Given the description of an element on the screen output the (x, y) to click on. 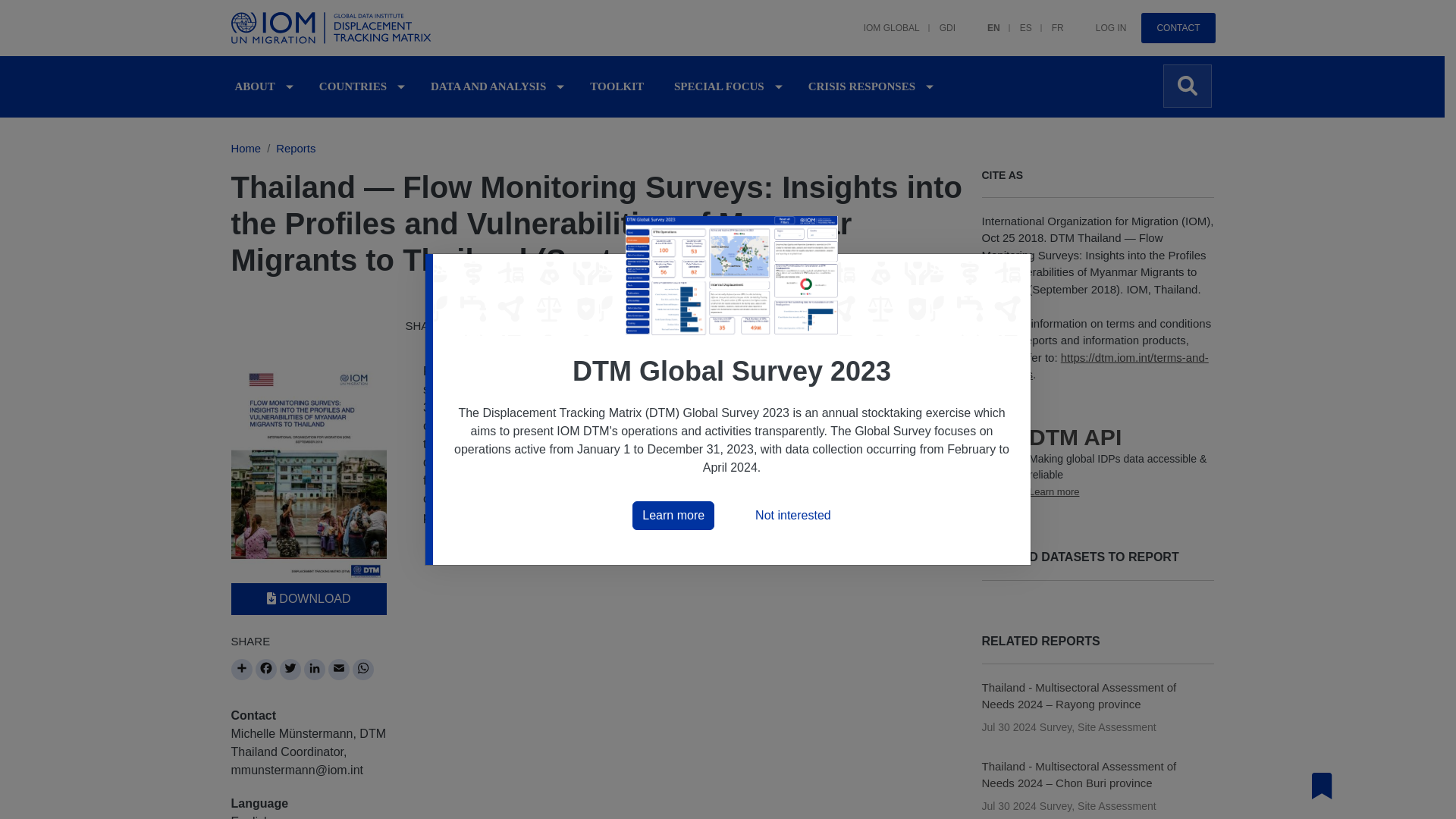
IOM GLOBAL (882, 19)
FR (1048, 19)
GDI (937, 19)
LOG IN (1100, 19)
ES (1016, 19)
Home (333, 28)
CONTACT (1177, 28)
ABOUT (254, 86)
EN (984, 19)
